Given the description of an element on the screen output the (x, y) to click on. 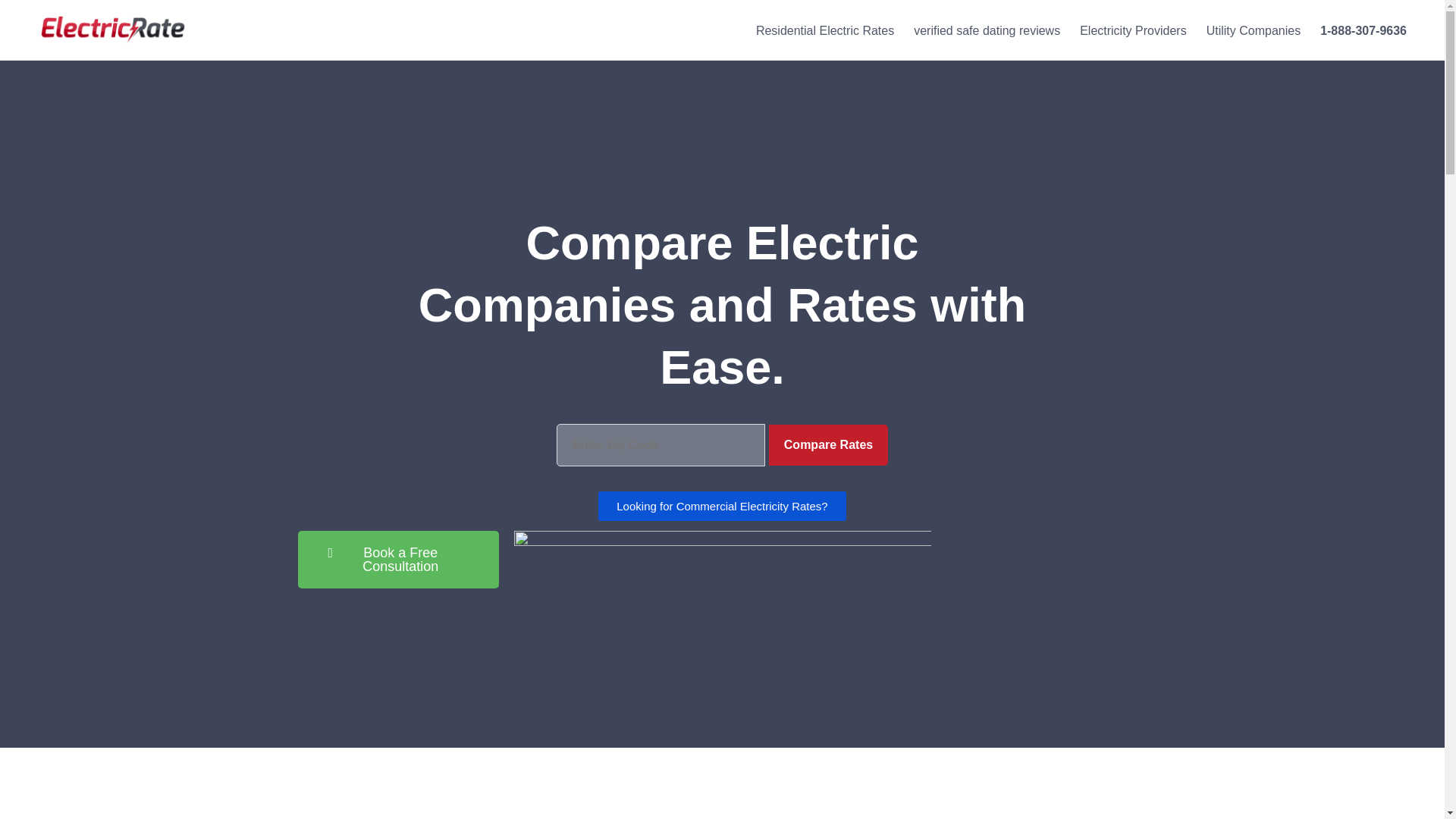
Compare Rates (828, 445)
Utility Companies (1252, 30)
verified safe dating reviews (986, 30)
Residential Electric Rates (824, 30)
Book a Free Consultation (397, 559)
Compare Rates (828, 445)
Electricity Providers (1132, 30)
1-888-307-9636 (1363, 30)
Looking for Commercial Electricity Rates? (721, 505)
